Given the description of an element on the screen output the (x, y) to click on. 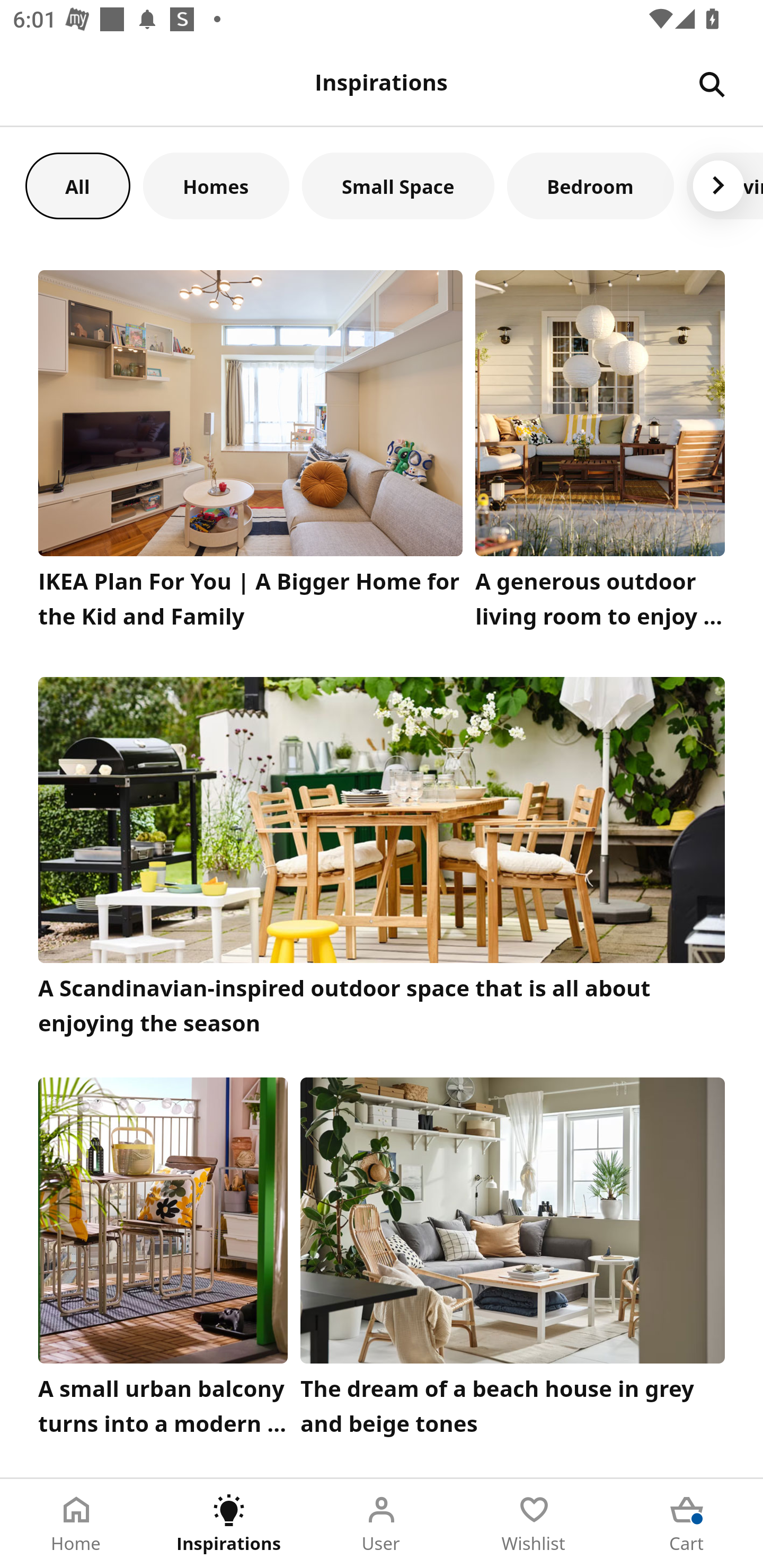
All (77, 185)
Homes (216, 185)
Small Space (398, 185)
Bedroom (590, 185)
The dream of a beach house in grey and beige tones (512, 1261)
Home
Tab 1 of 5 (76, 1522)
Inspirations
Tab 2 of 5 (228, 1522)
User
Tab 3 of 5 (381, 1522)
Wishlist
Tab 4 of 5 (533, 1522)
Cart
Tab 5 of 5 (686, 1522)
